Given the description of an element on the screen output the (x, y) to click on. 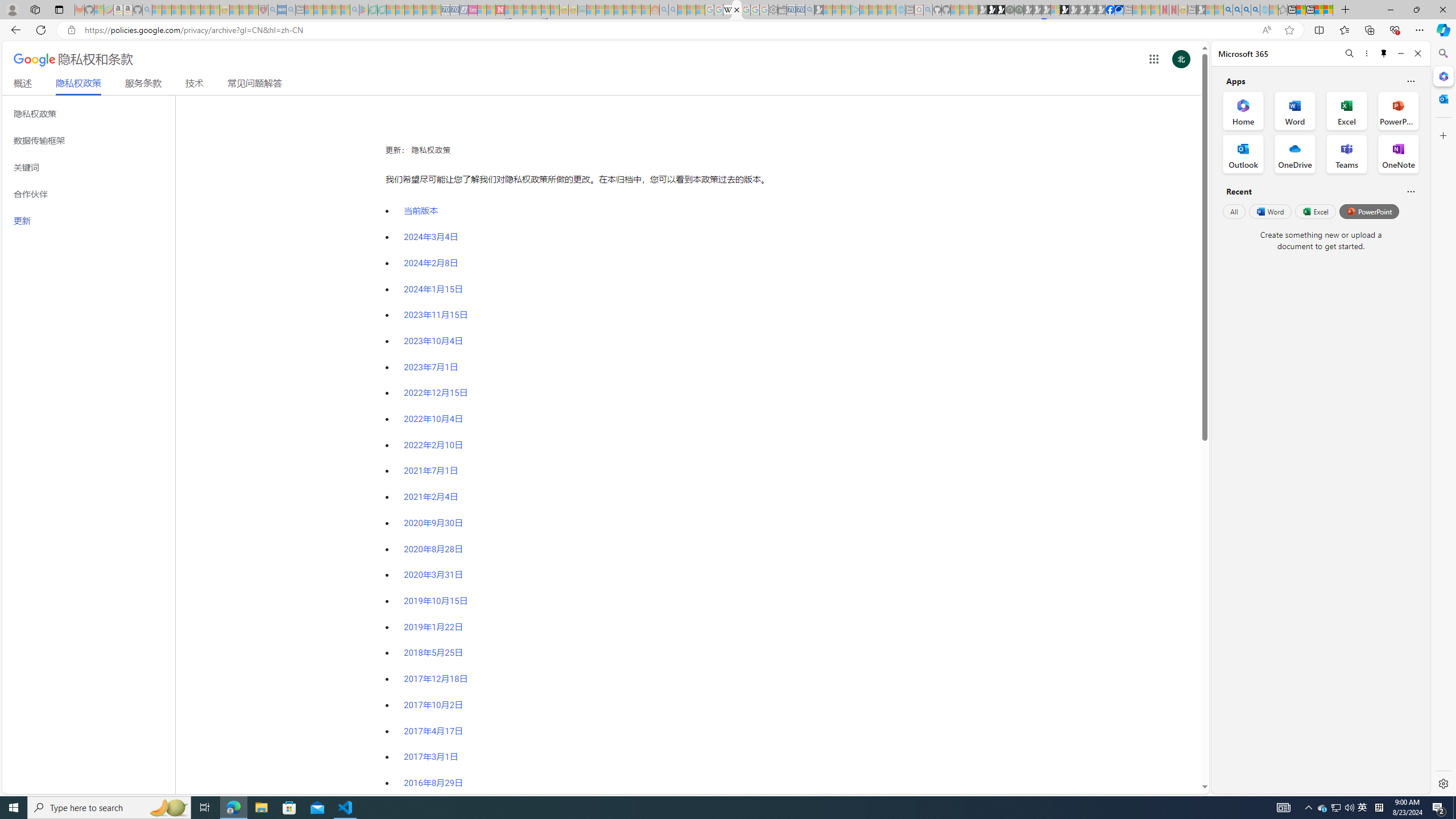
Outlook Office App (1243, 154)
OneNote Office App (1398, 154)
Excel (1315, 210)
github - Search - Sleeping (927, 9)
Bing AI - Search (1227, 9)
MSN - Sleeping (1200, 9)
